Given the description of an element on the screen output the (x, y) to click on. 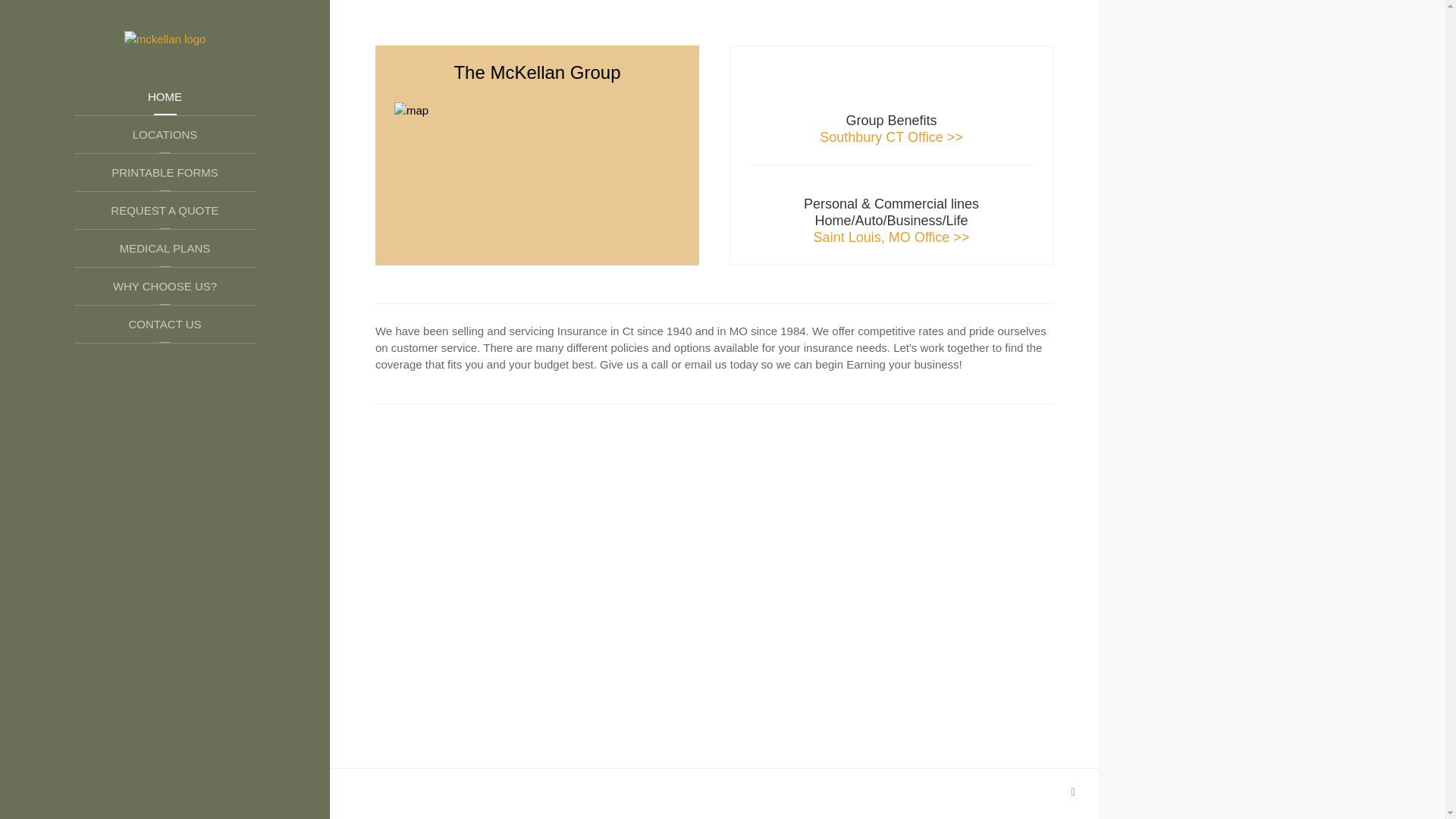
REQUEST A QUOTE (165, 210)
WHY CHOOSE US? (165, 286)
MEDICAL PLANS (165, 248)
HOME (165, 96)
PRINTABLE FORMS (165, 172)
CONTACT US (165, 324)
LOCATIONS (165, 134)
